Given the description of an element on the screen output the (x, y) to click on. 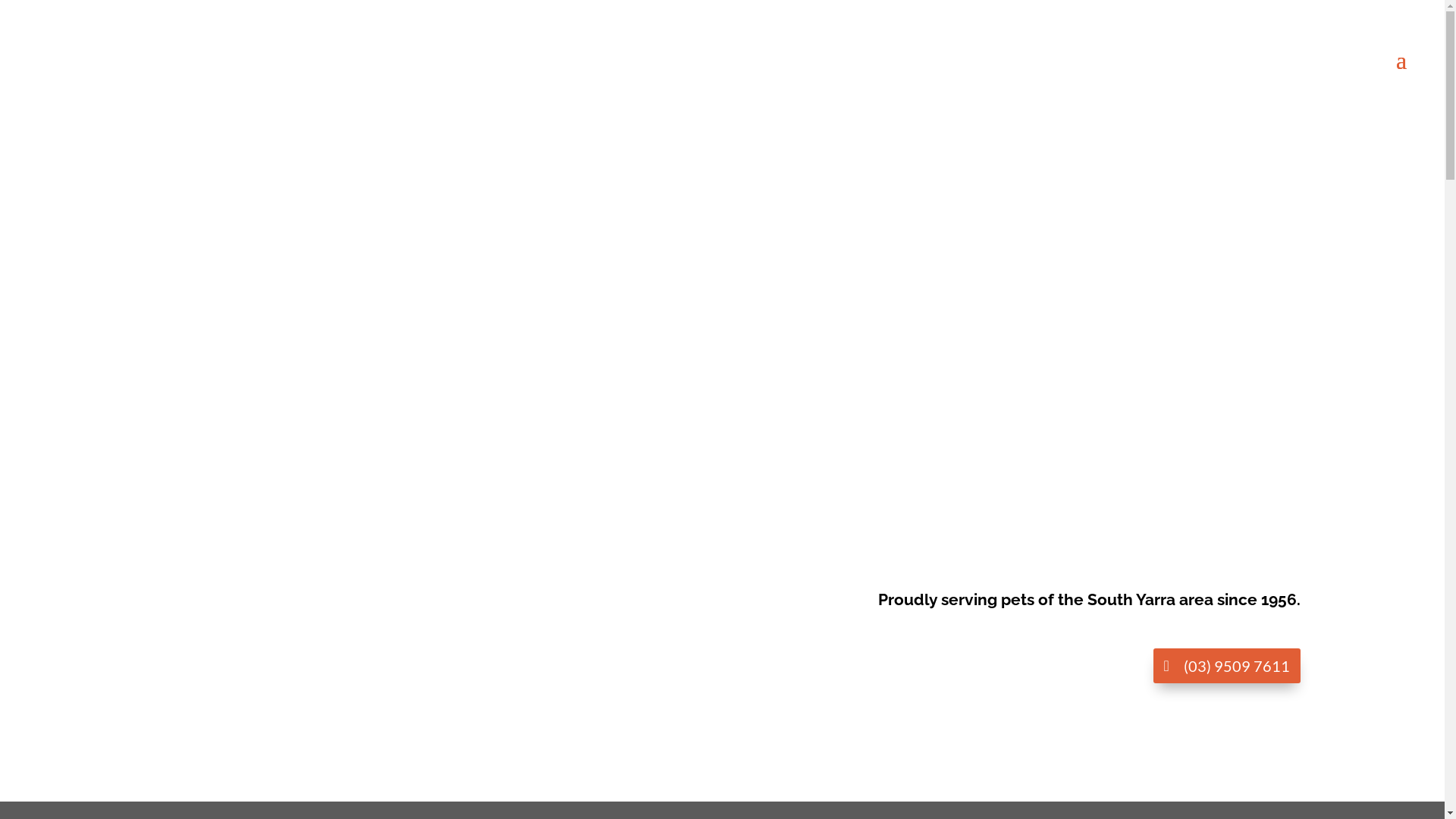
(03) 9509 7611 Element type: text (1225, 665)
